Given the description of an element on the screen output the (x, y) to click on. 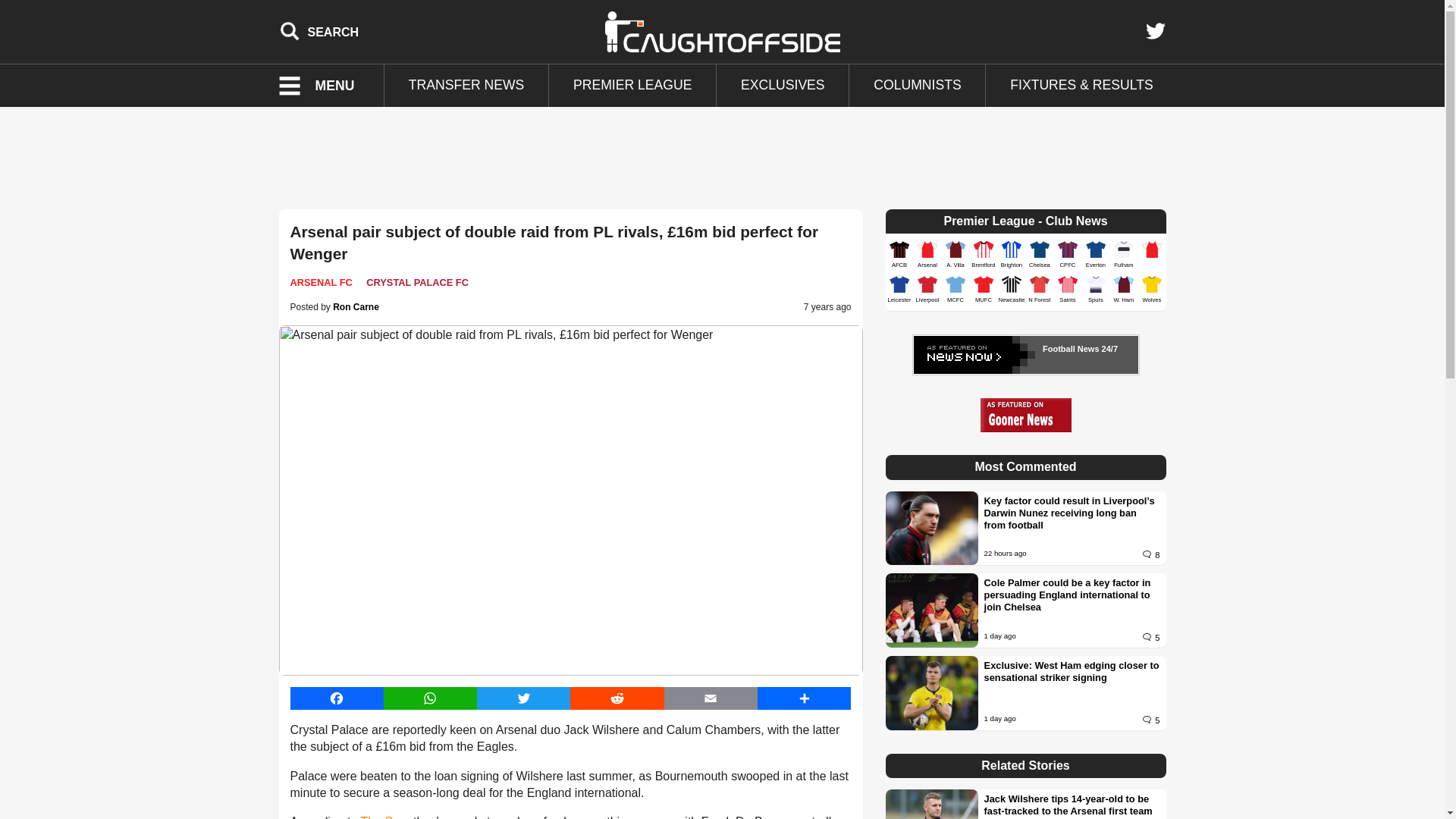
TRANSFER NEWS (466, 85)
EXCLUSIVES (782, 85)
PREMIER LEAGUE (632, 85)
Twitter (1155, 30)
Search (319, 30)
Menu (325, 85)
